Given the description of an element on the screen output the (x, y) to click on. 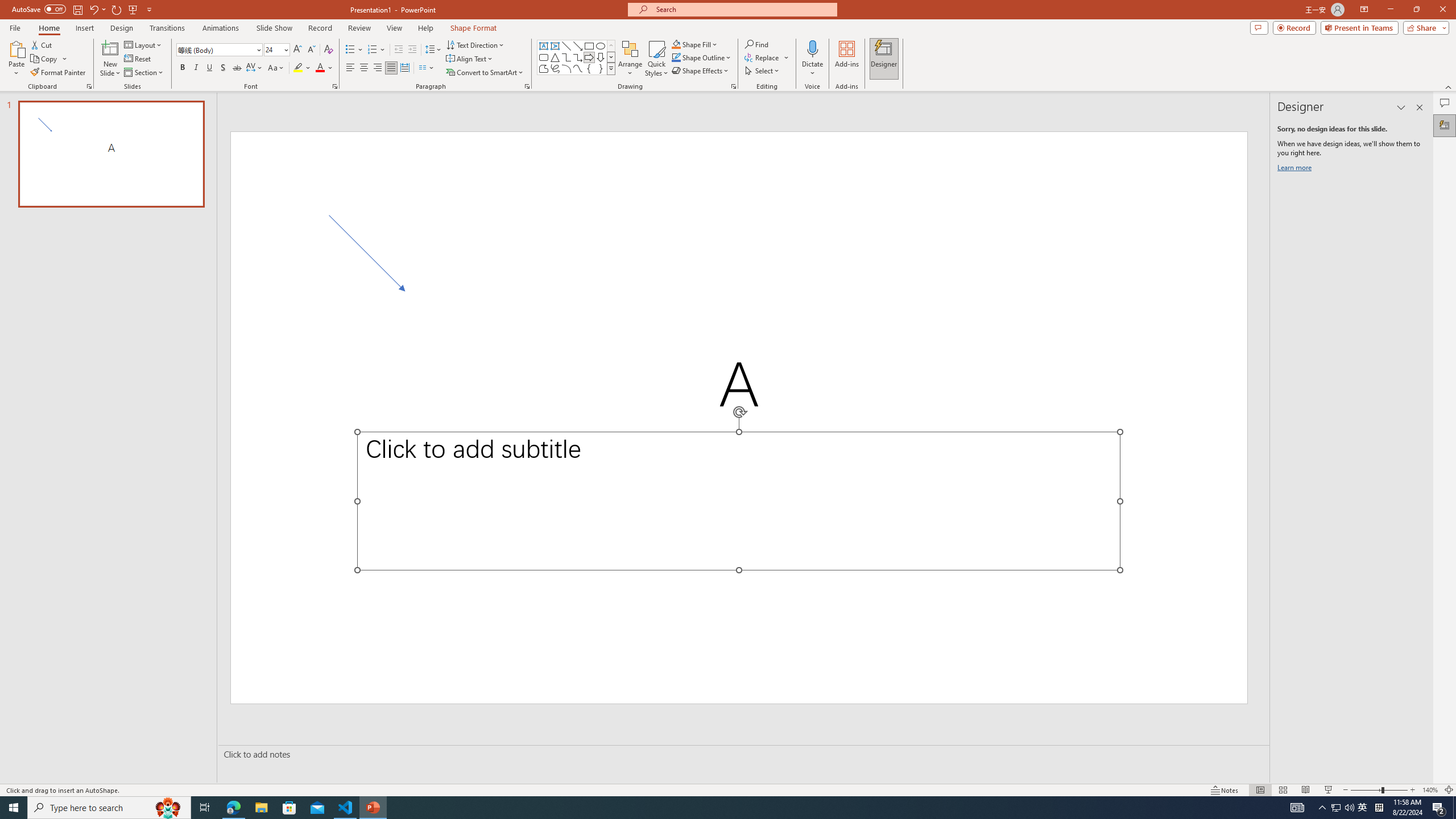
Zoom 140% (1430, 790)
